Given the description of an element on the screen output the (x, y) to click on. 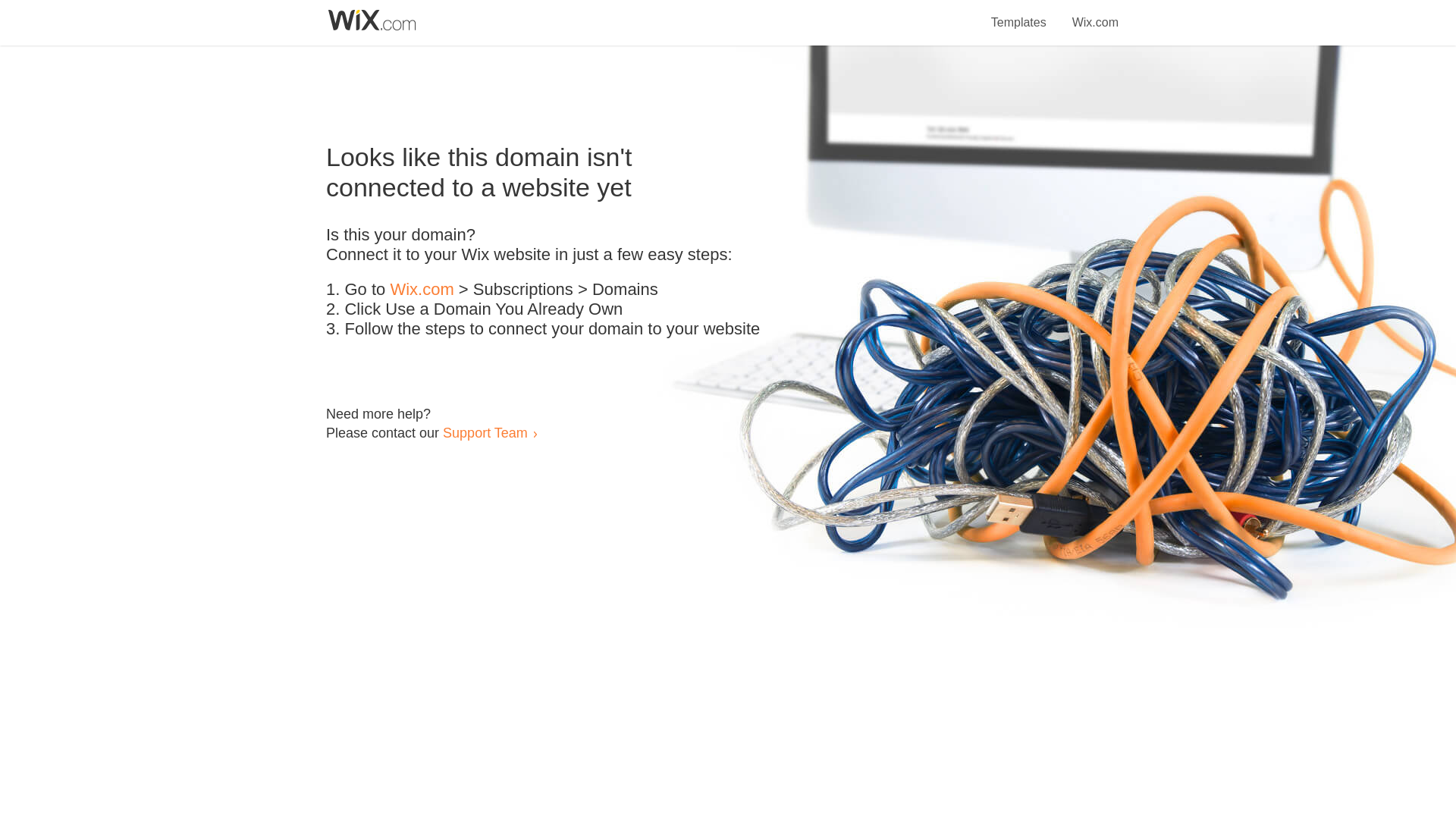
Wix.com (421, 289)
Wix.com (1095, 14)
Support Team (484, 432)
Templates (1018, 14)
